Given the description of an element on the screen output the (x, y) to click on. 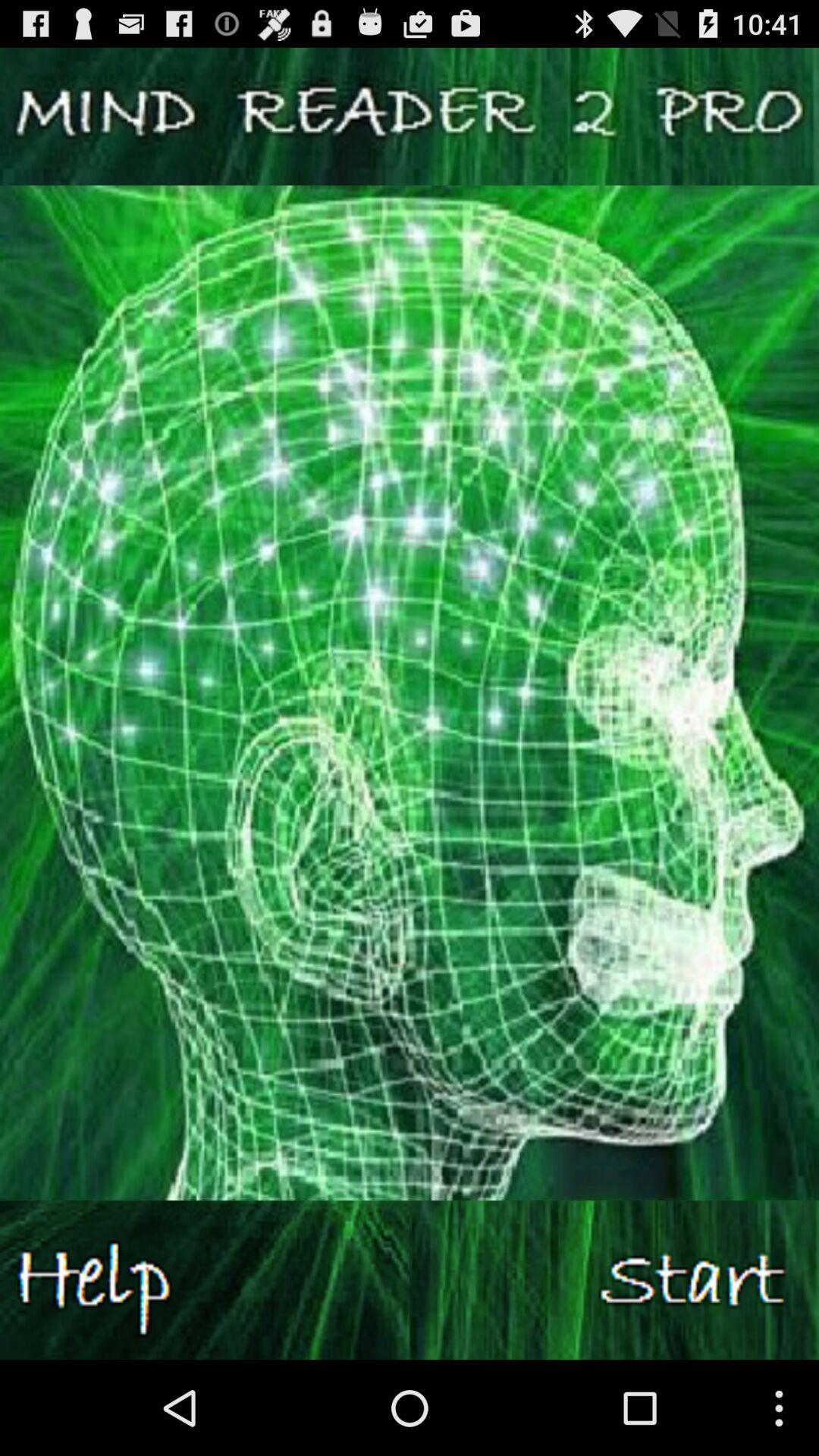
switch on the article option (614, 1279)
